Given the description of an element on the screen output the (x, y) to click on. 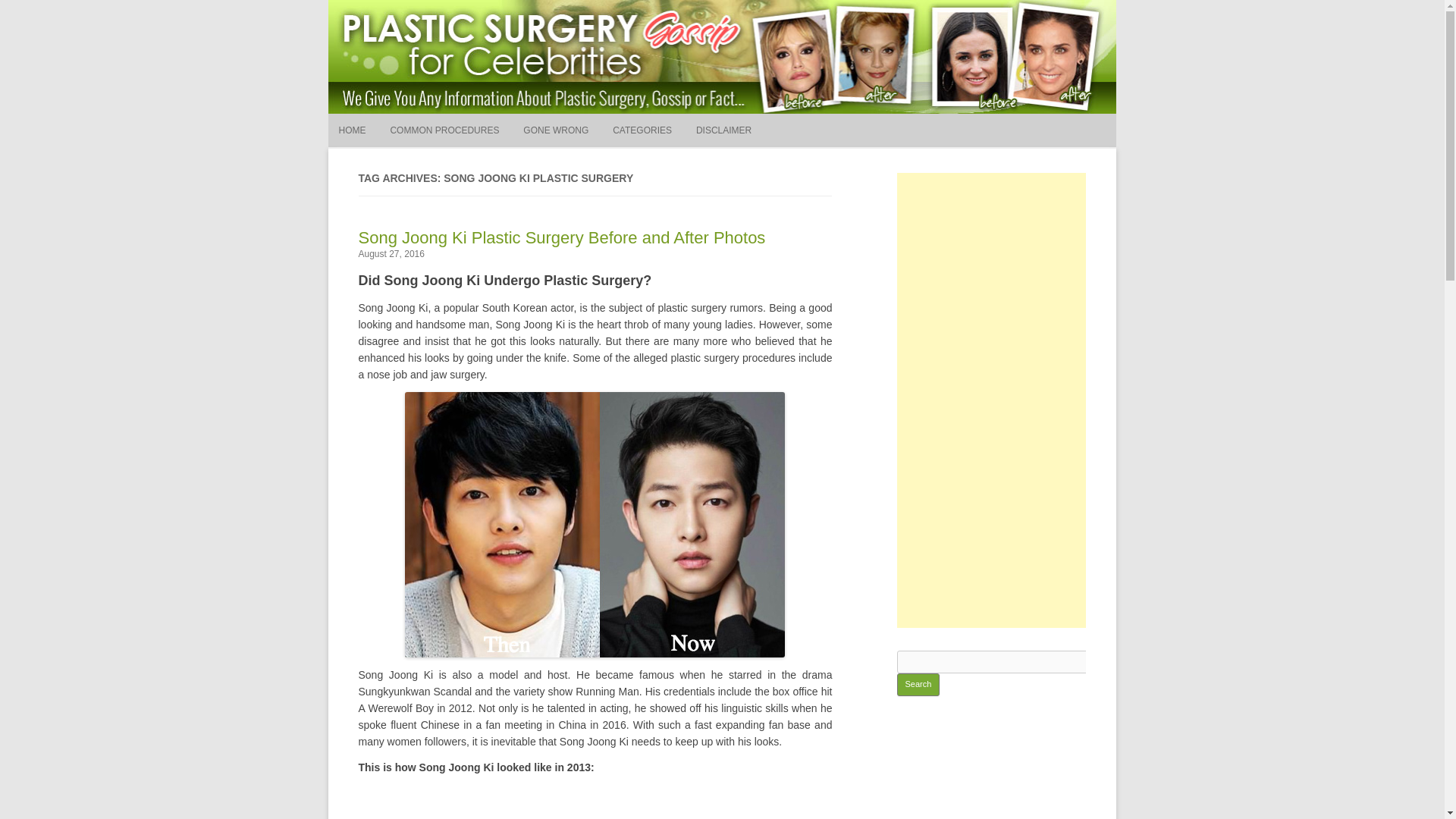
Search (917, 684)
3:45 pm (390, 253)
Search (917, 684)
GONE WRONG (555, 130)
Search (777, 172)
CATEGORIES (641, 130)
Search (777, 172)
Skip to content (757, 118)
August 27, 2016 (390, 253)
COMMON PROCEDURES (444, 130)
Song Joong Ki Plastic Surgery Before and After Photos (561, 237)
DISCLAIMER (723, 130)
